Given the description of an element on the screen output the (x, y) to click on. 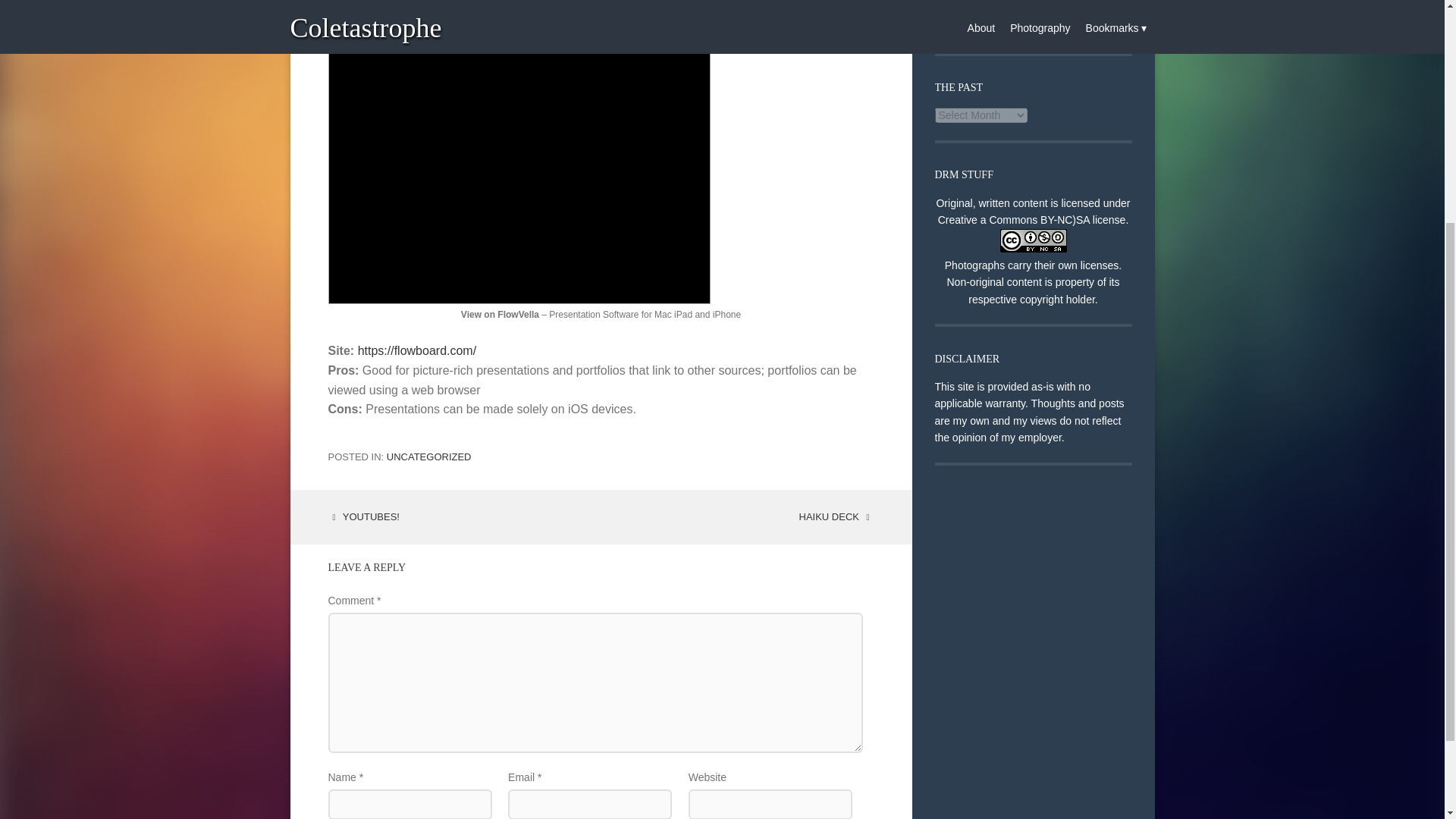
HAIKU DECK (837, 516)
UNCATEGORIZED (429, 456)
Feed suspended! Please contact the owner. (1020, 13)
YOUTUBES! (362, 516)
